Given the description of an element on the screen output the (x, y) to click on. 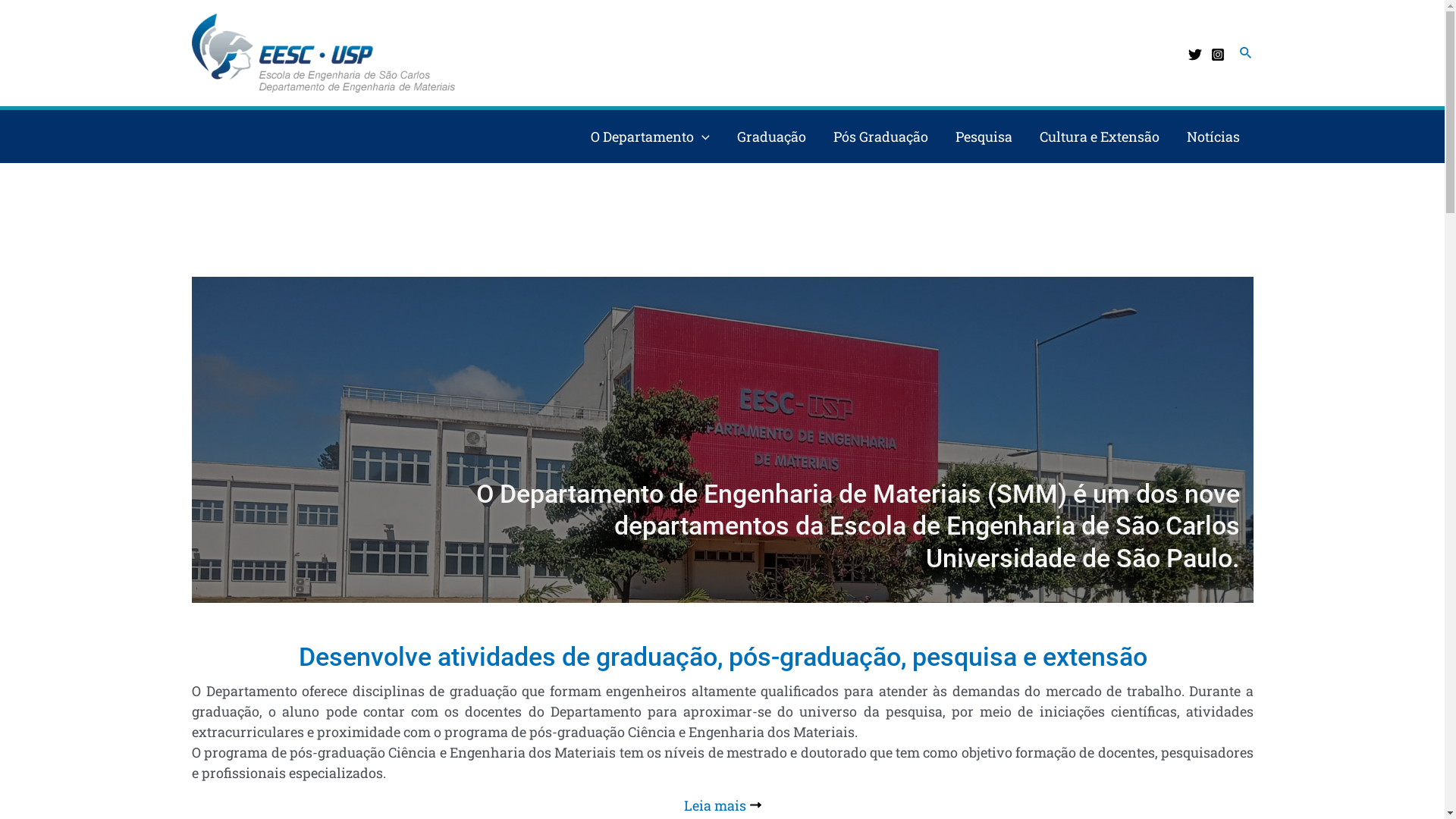
Leia mais Element type: text (722, 804)
Pesquisar Element type: text (1245, 52)
O Departamento Element type: text (650, 136)
Pesquisa Element type: text (983, 136)
